Given the description of an element on the screen output the (x, y) to click on. 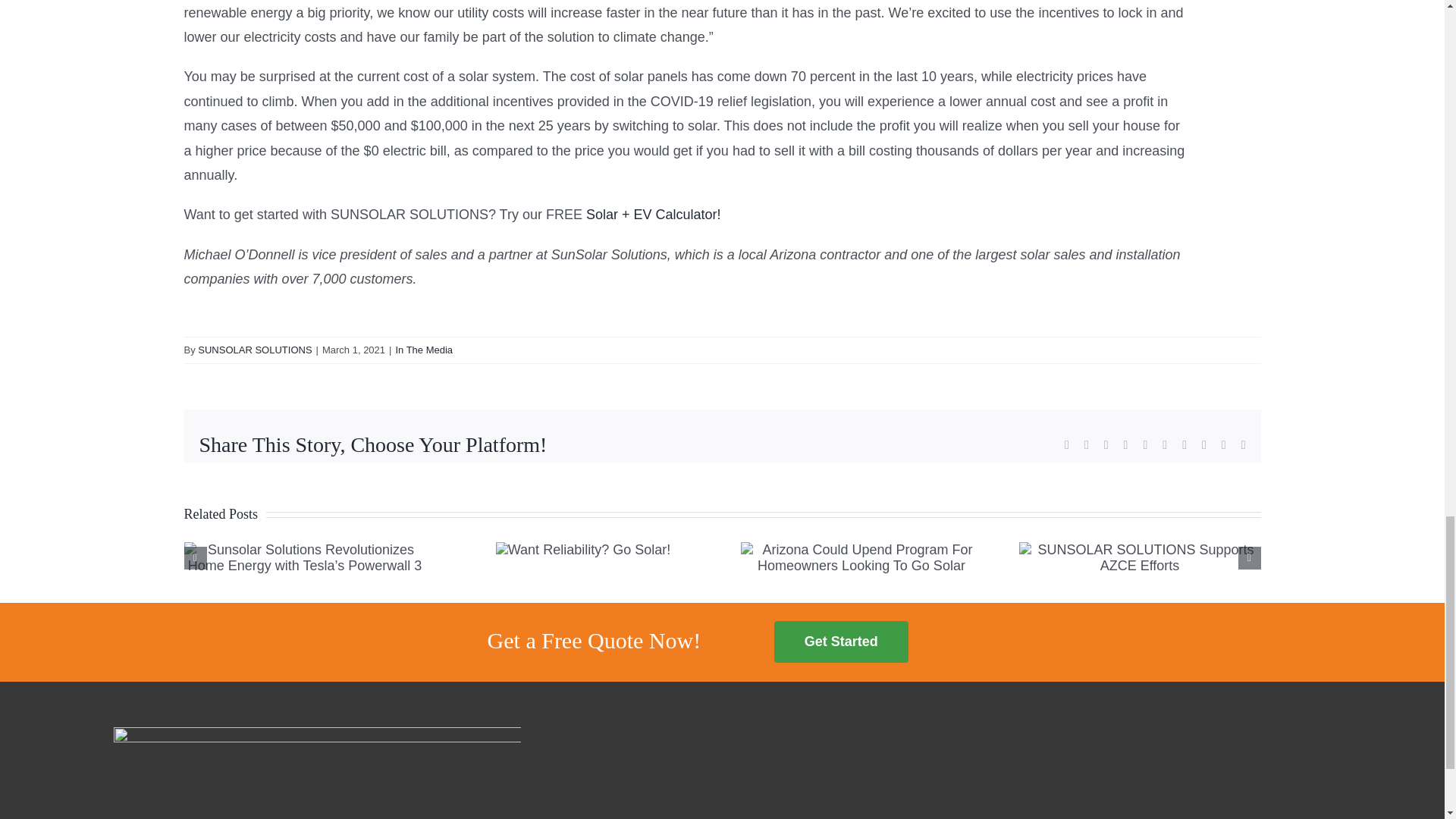
SUNSOLAR SOLUTIONS (254, 349)
Posts by SUNSOLAR SOLUTIONS (254, 349)
In The Media (423, 349)
